Given the description of an element on the screen output the (x, y) to click on. 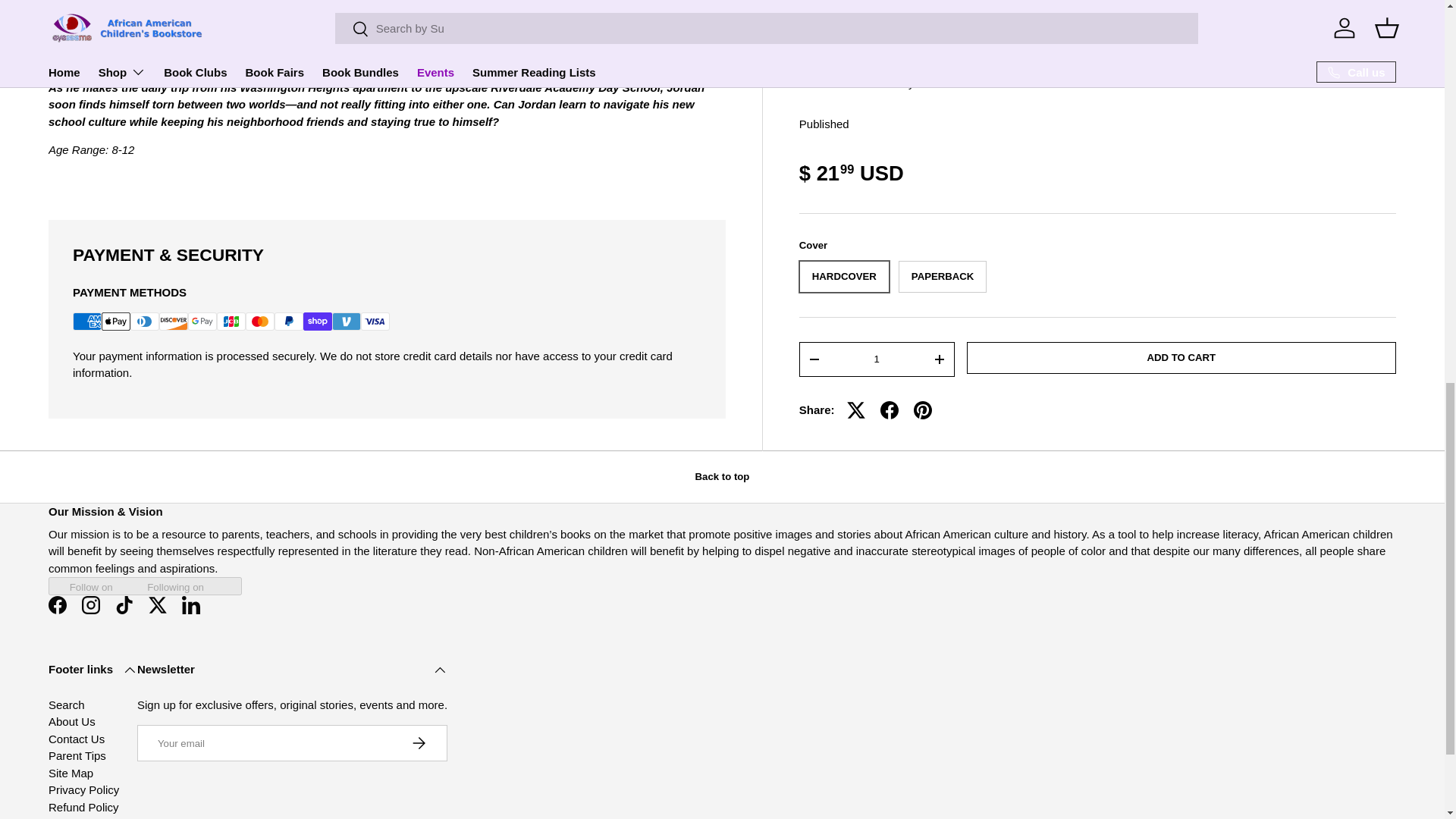
EyeSeeMe  on TikTok (124, 604)
JCB (231, 321)
American Express (86, 321)
EyeSeeMe  on Instagram (90, 604)
Apple Pay (116, 321)
EyeSeeMe  on Facebook (57, 604)
EyeSeeMe  on LinkedIn (191, 604)
Discover (172, 321)
EyeSeeMe  on Twitter (157, 604)
Google Pay (201, 321)
